Given the description of an element on the screen output the (x, y) to click on. 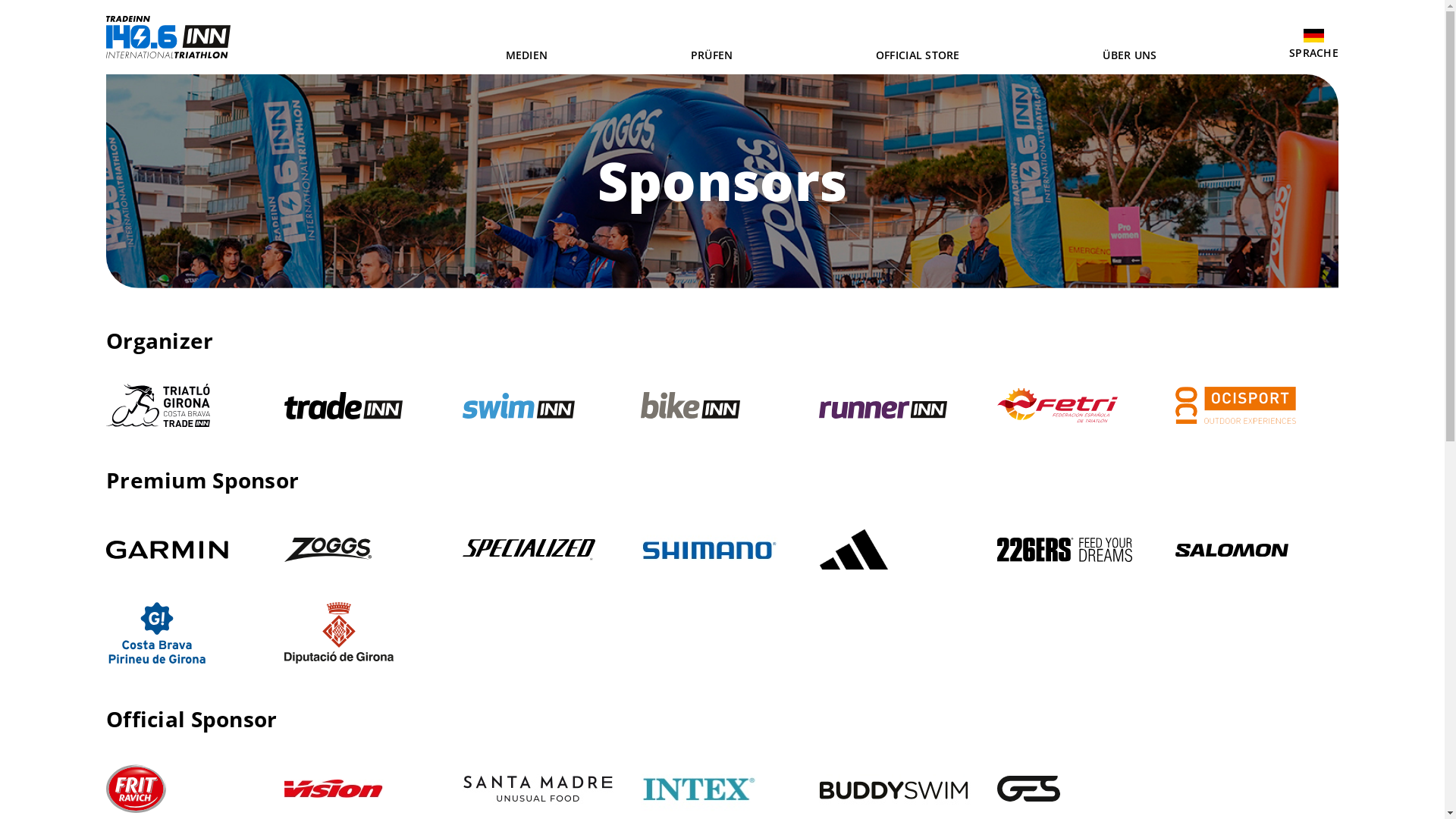
logo Patronat Turisme Element type: hover (156, 632)
logo santa-madre Element type: hover (537, 788)
MEDIEN Element type: text (526, 55)
logo Fetri Element type: hover (1057, 405)
Technische Informationen Element type: hover (168, 54)
logo runnerinn Element type: hover (883, 409)
logo TGCBinn Element type: hover (158, 404)
logo Ocisport Element type: hover (1235, 404)
logo Intex Element type: hover (698, 788)
logo Vision Element type: hover (333, 788)
SPRACHE Element type: text (1313, 52)
logo 226ers Element type: hover (1064, 549)
OFFICIAL STORE Element type: text (917, 55)
logo Frit Element type: hover (136, 788)
logo adidas Element type: hover (854, 549)
logo bikeinn Element type: hover (690, 405)
logo ges Element type: hover (1028, 788)
logo Specialized Element type: hover (528, 549)
logo tradeinn Element type: hover (343, 405)
logo Shimano Element type: hover (709, 550)
logo head Element type: hover (327, 549)
logo salomon Element type: hover (1231, 549)
logo buddyswim Element type: hover (894, 788)
logo swiminn Element type: hover (518, 405)
logo garmin Element type: hover (170, 549)
